Given the description of an element on the screen output the (x, y) to click on. 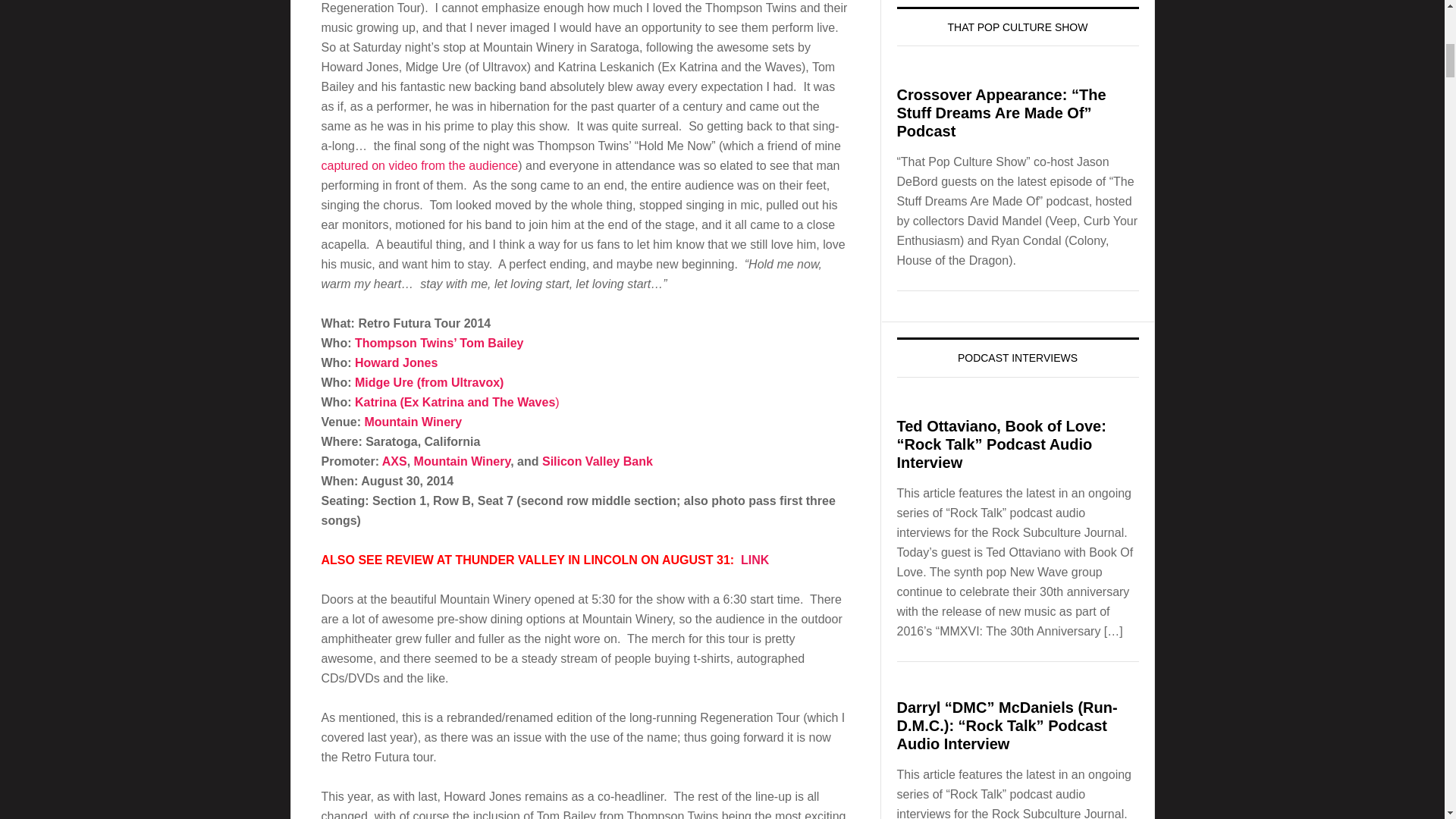
LINK (754, 559)
Mountain Winery (462, 461)
Mountain Winery (412, 421)
captured on video from the audience (419, 164)
Howard Jones (396, 362)
Silicon Valley Bank (596, 461)
AXS (394, 461)
